Given the description of an element on the screen output the (x, y) to click on. 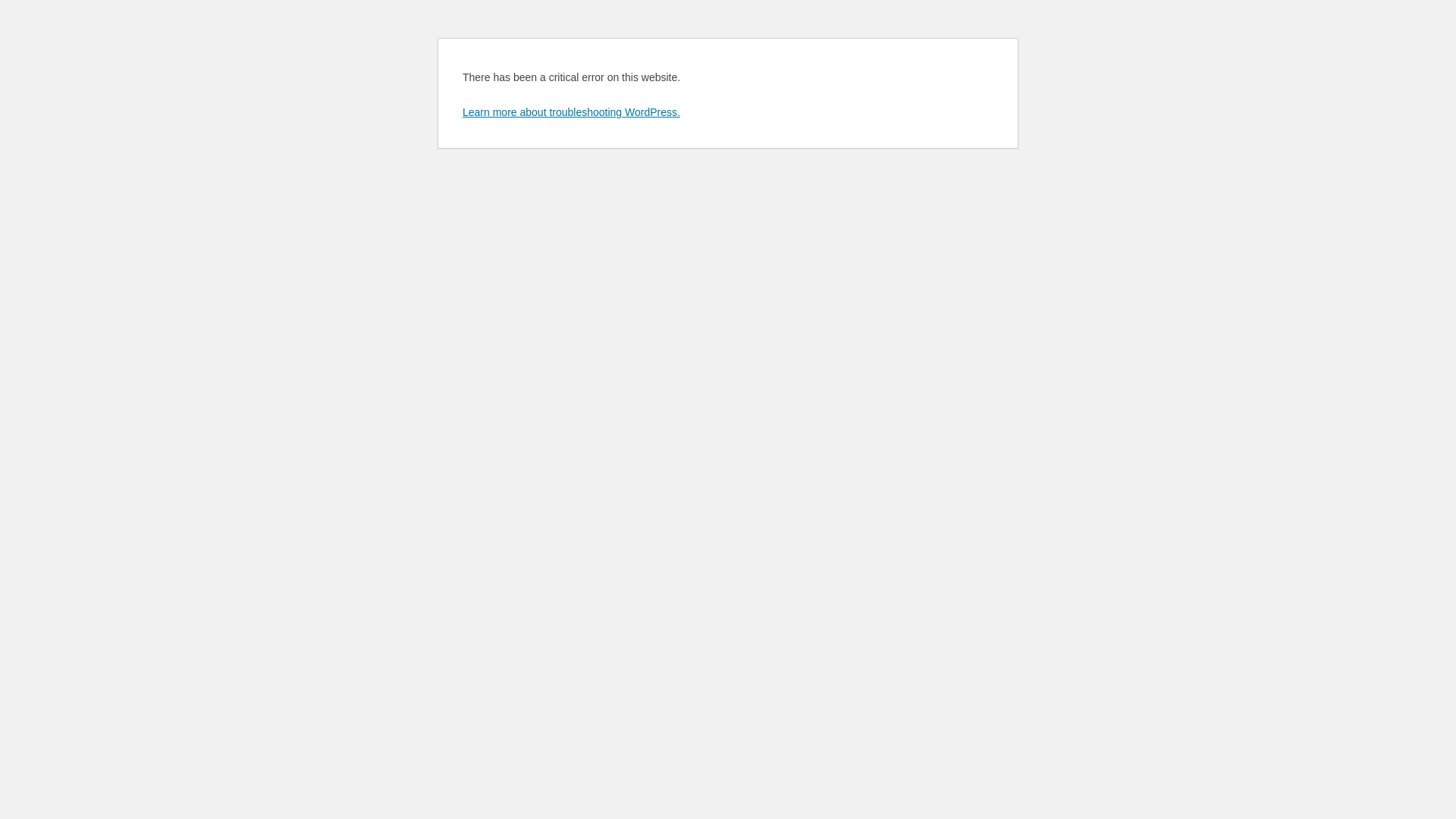
Learn more about troubleshooting WordPress. Element type: text (571, 112)
